Given the description of an element on the screen output the (x, y) to click on. 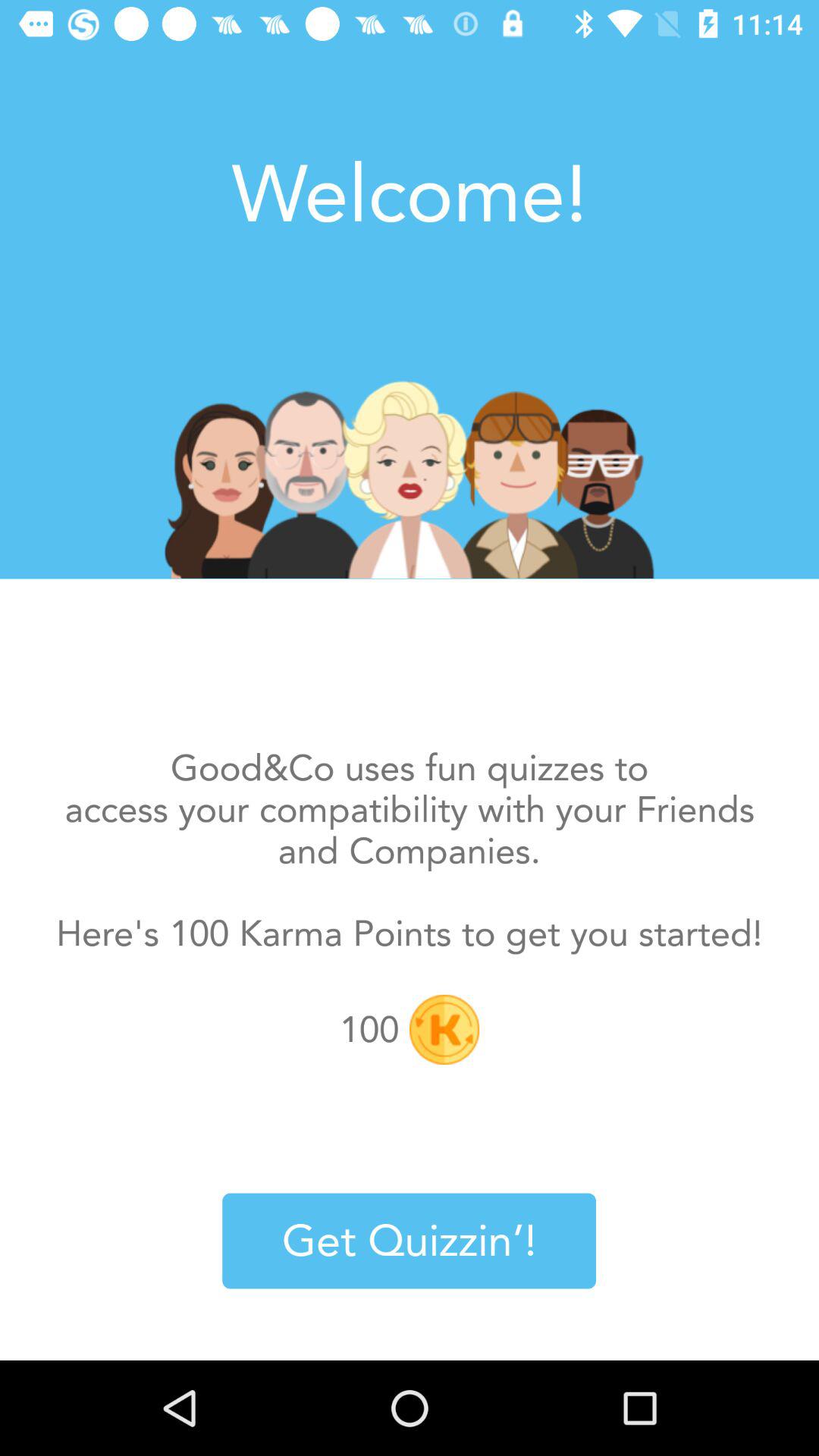
press icon below the 100 (409, 1240)
